Given the description of an element on the screen output the (x, y) to click on. 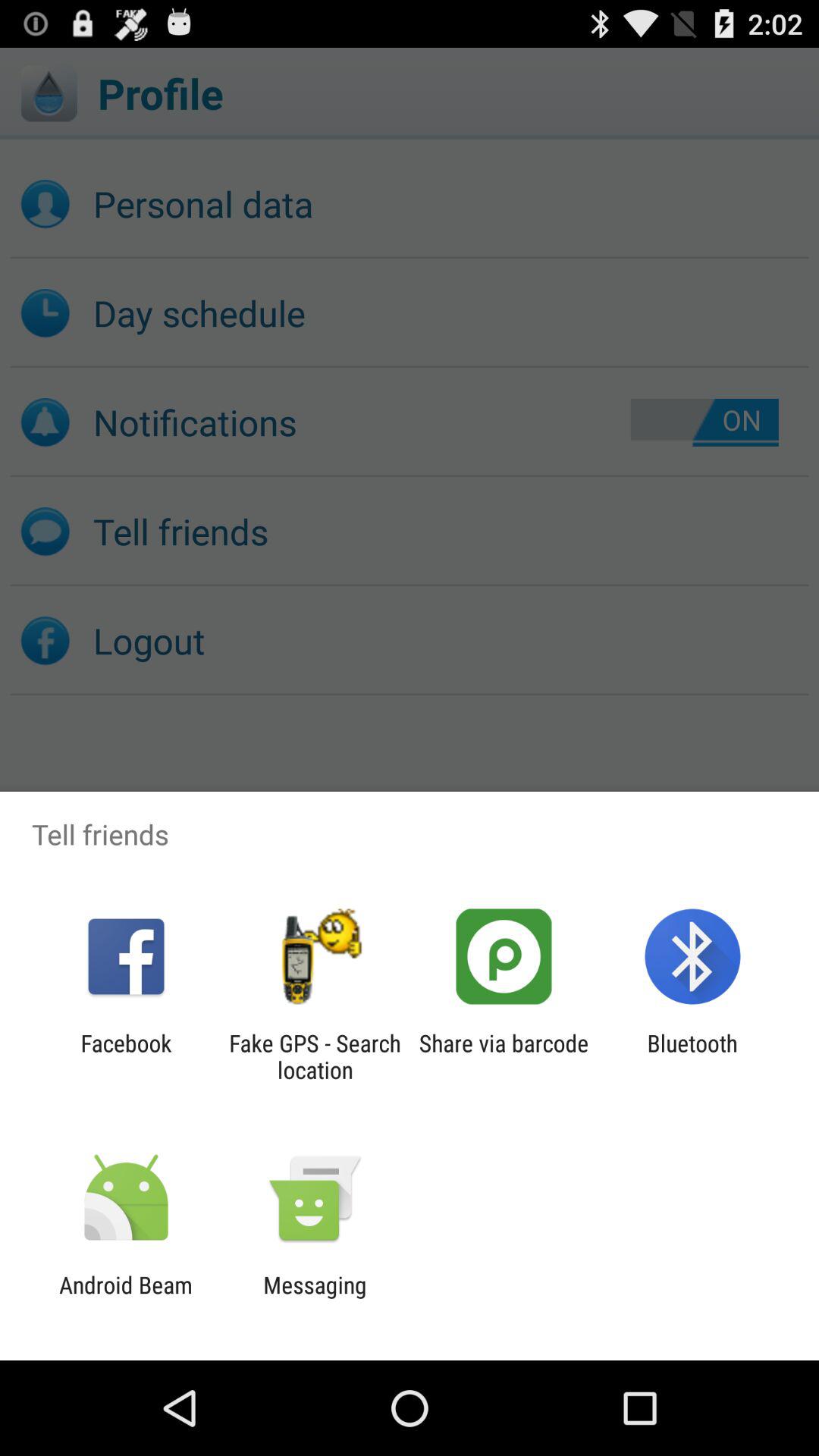
tap the icon next to share via barcode item (692, 1056)
